Given the description of an element on the screen output the (x, y) to click on. 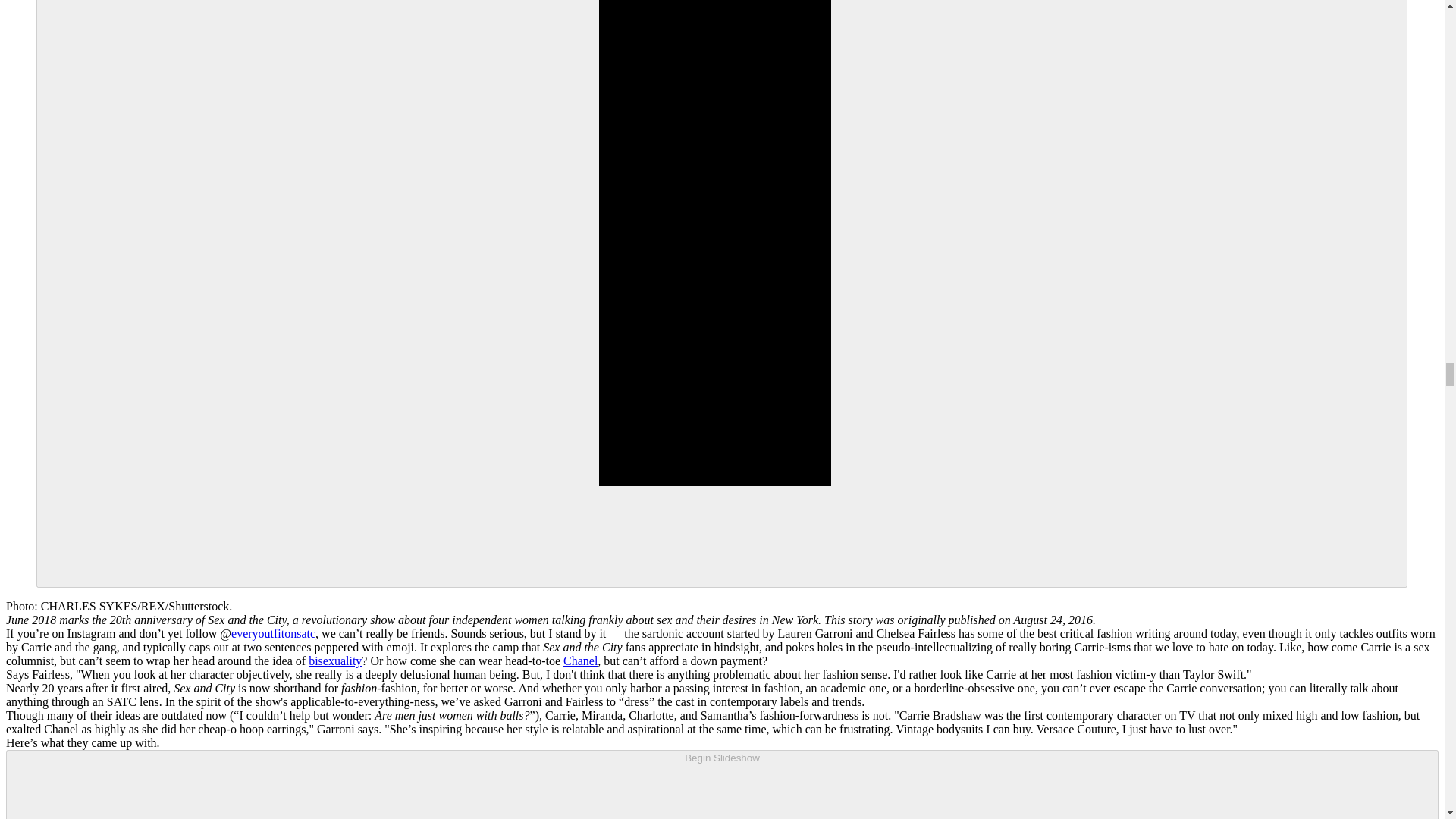
bisexuality (334, 660)
everyoutfitonsatc (273, 633)
Chanel (579, 660)
